Given the description of an element on the screen output the (x, y) to click on. 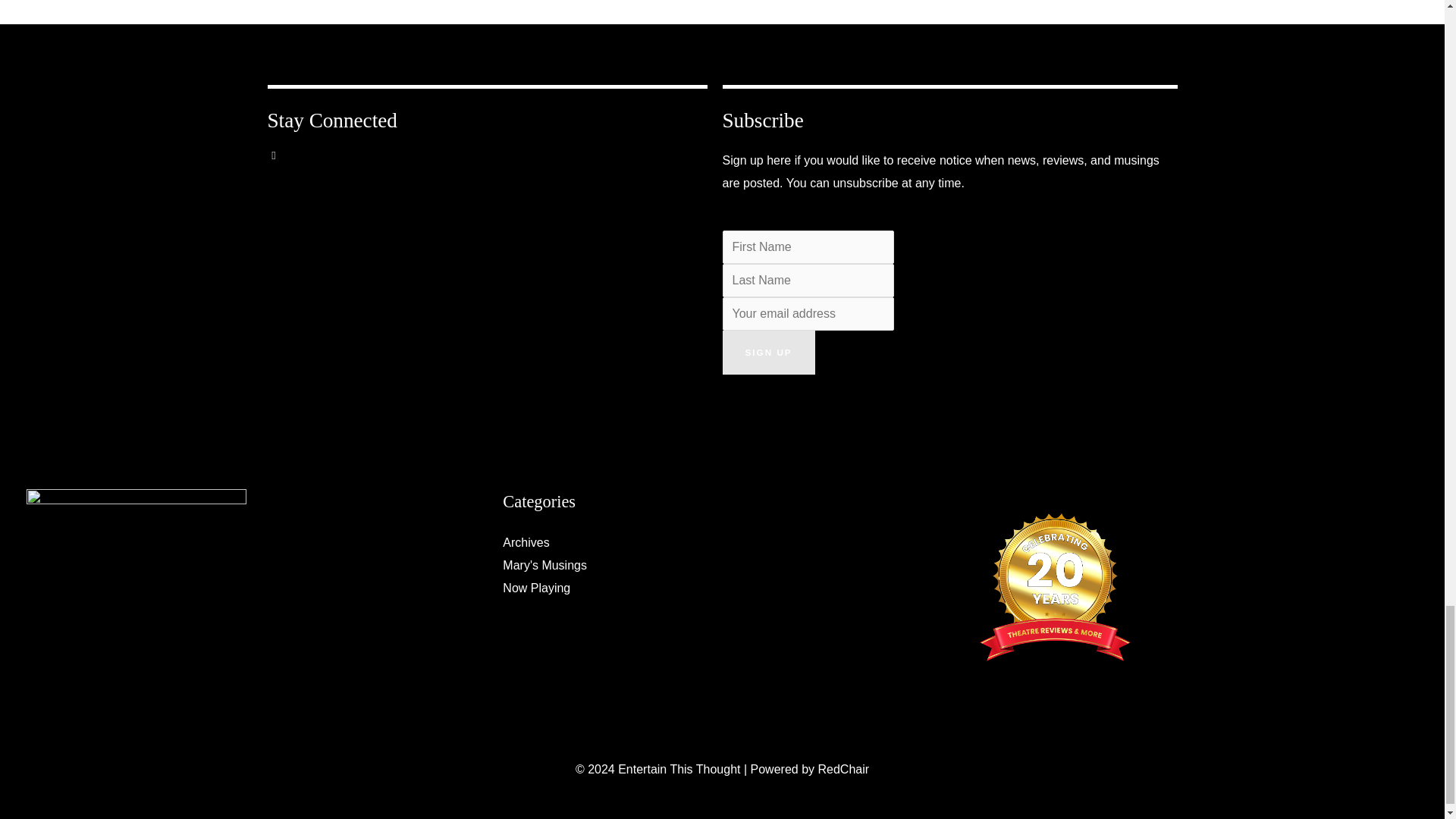
Archives (525, 542)
Sign up (767, 352)
Sign up (767, 352)
Now Playing (536, 587)
Facebook-f (283, 166)
RedChair (842, 768)
Mary's Musings (544, 564)
